Given the description of an element on the screen output the (x, y) to click on. 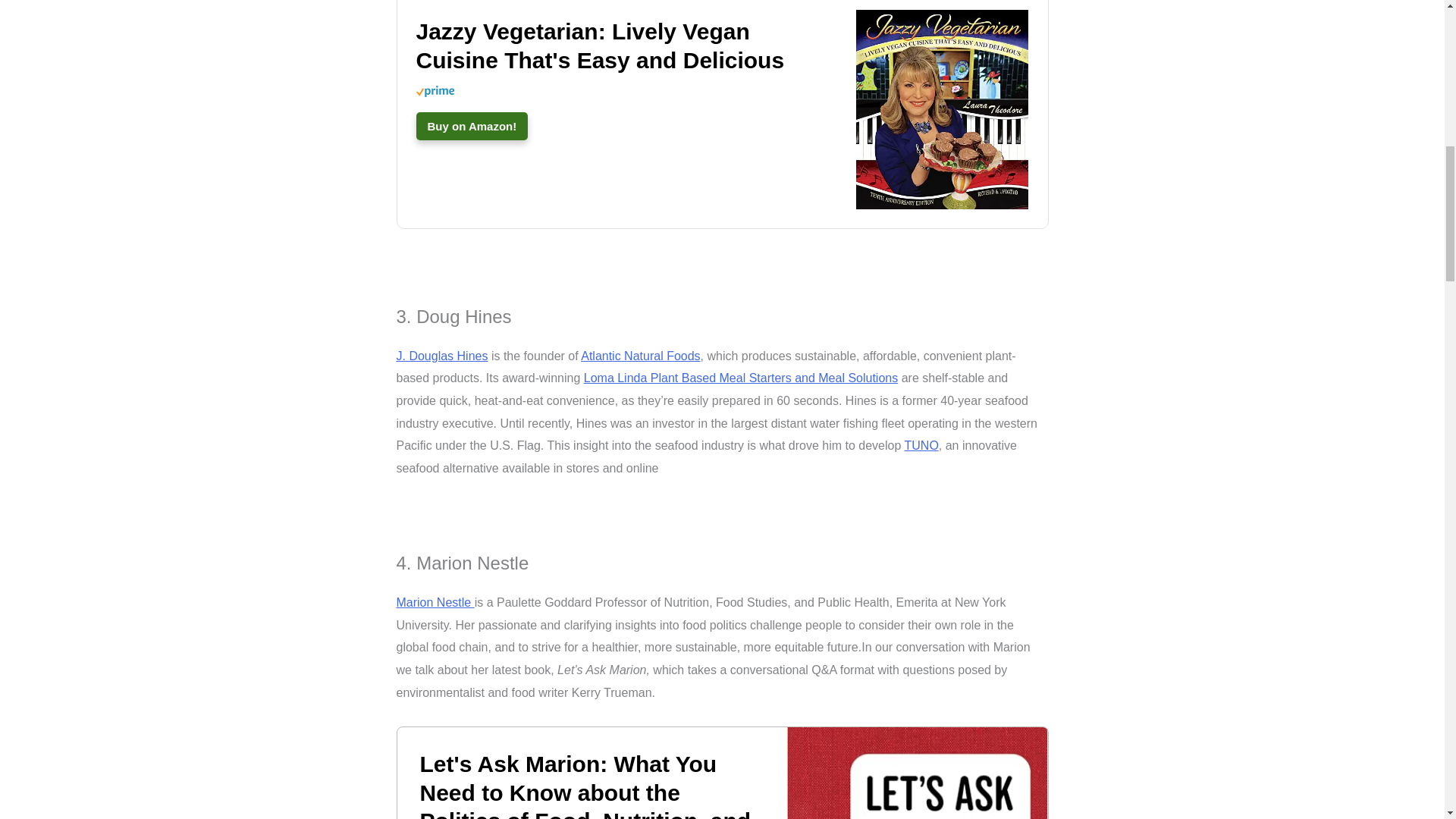
Atlantic Natural Foods (640, 355)
Buy on Amazon! (470, 126)
TUNO (920, 445)
Loma Linda Plant Based Meal Starters and Meal Solutions (740, 377)
Celebrating 10 Years of Vegetarian Zen! 2 (916, 773)
J. Douglas Hines (441, 355)
Marion Nestle (435, 602)
